Given the description of an element on the screen output the (x, y) to click on. 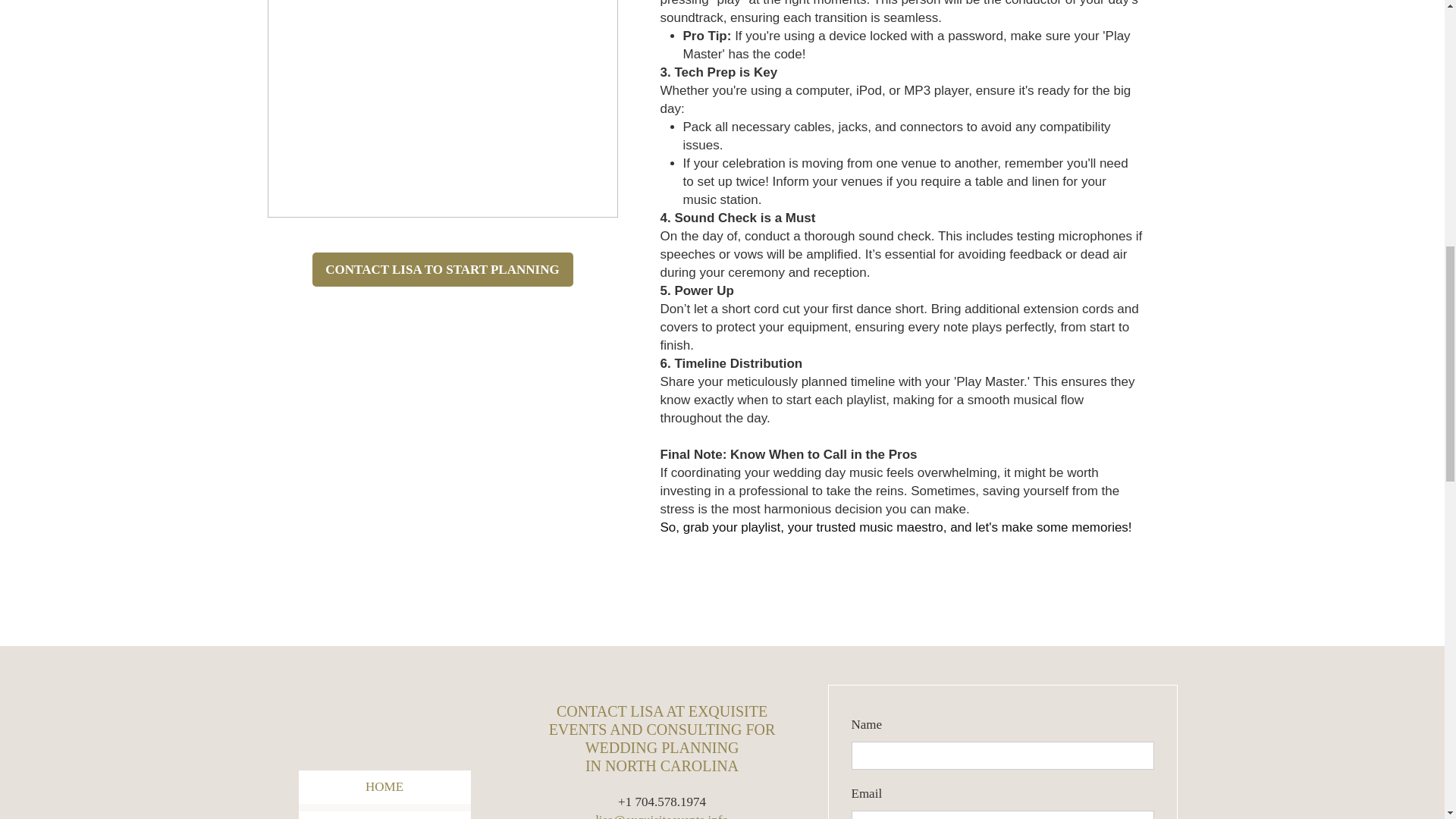
CONTACT LISA TO START PLANNING (443, 269)
HOME (384, 786)
ABOUT US (384, 815)
